Given the description of an element on the screen output the (x, y) to click on. 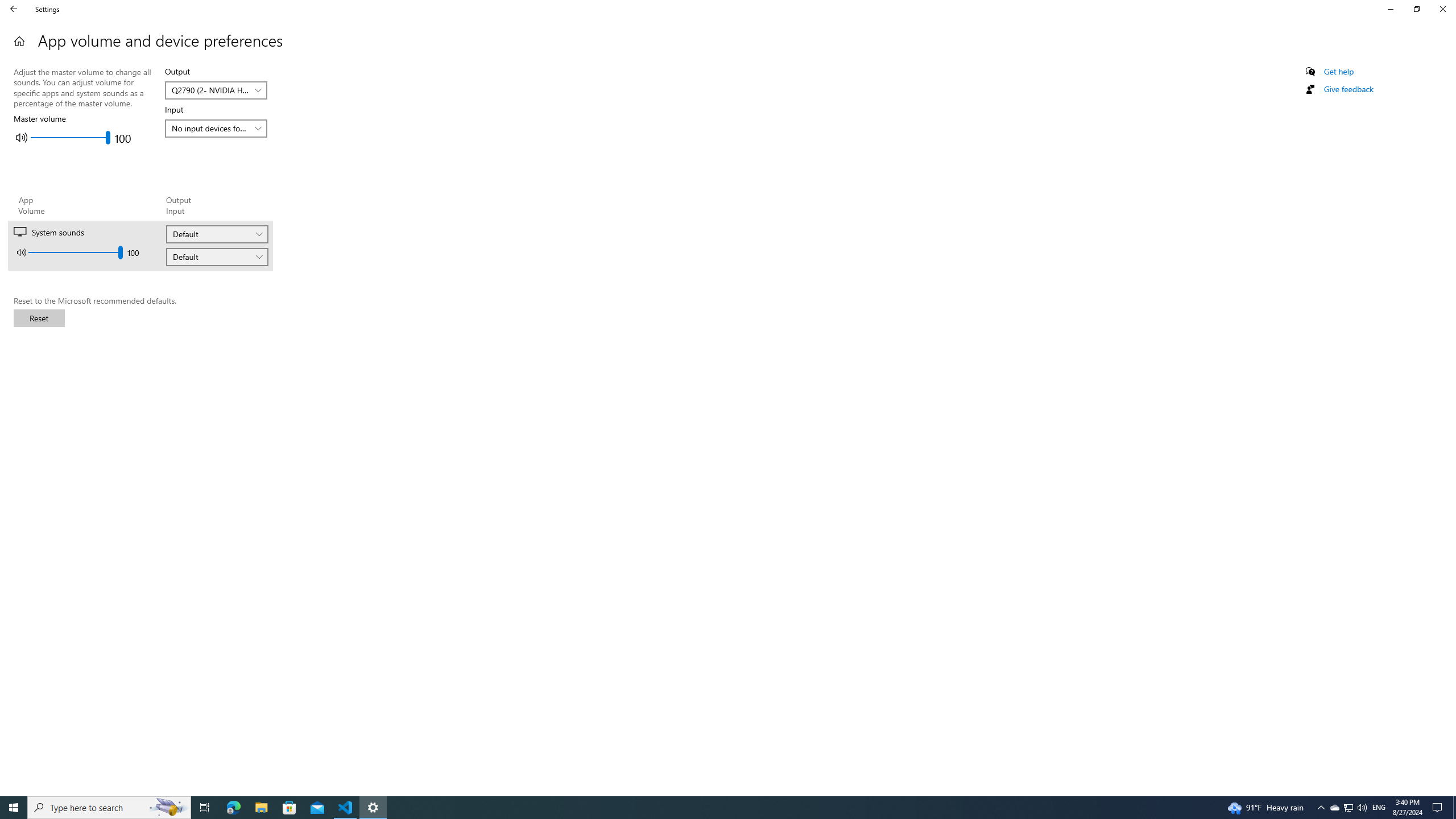
Close Settings (1442, 9)
Settings - 1 running window (373, 807)
Home (19, 40)
Mute master volume (21, 137)
Adjust the output volume (1333, 807)
Mute app (75, 252)
Type here to search (21, 252)
Microsoft Edge (108, 807)
